Given the description of an element on the screen output the (x, y) to click on. 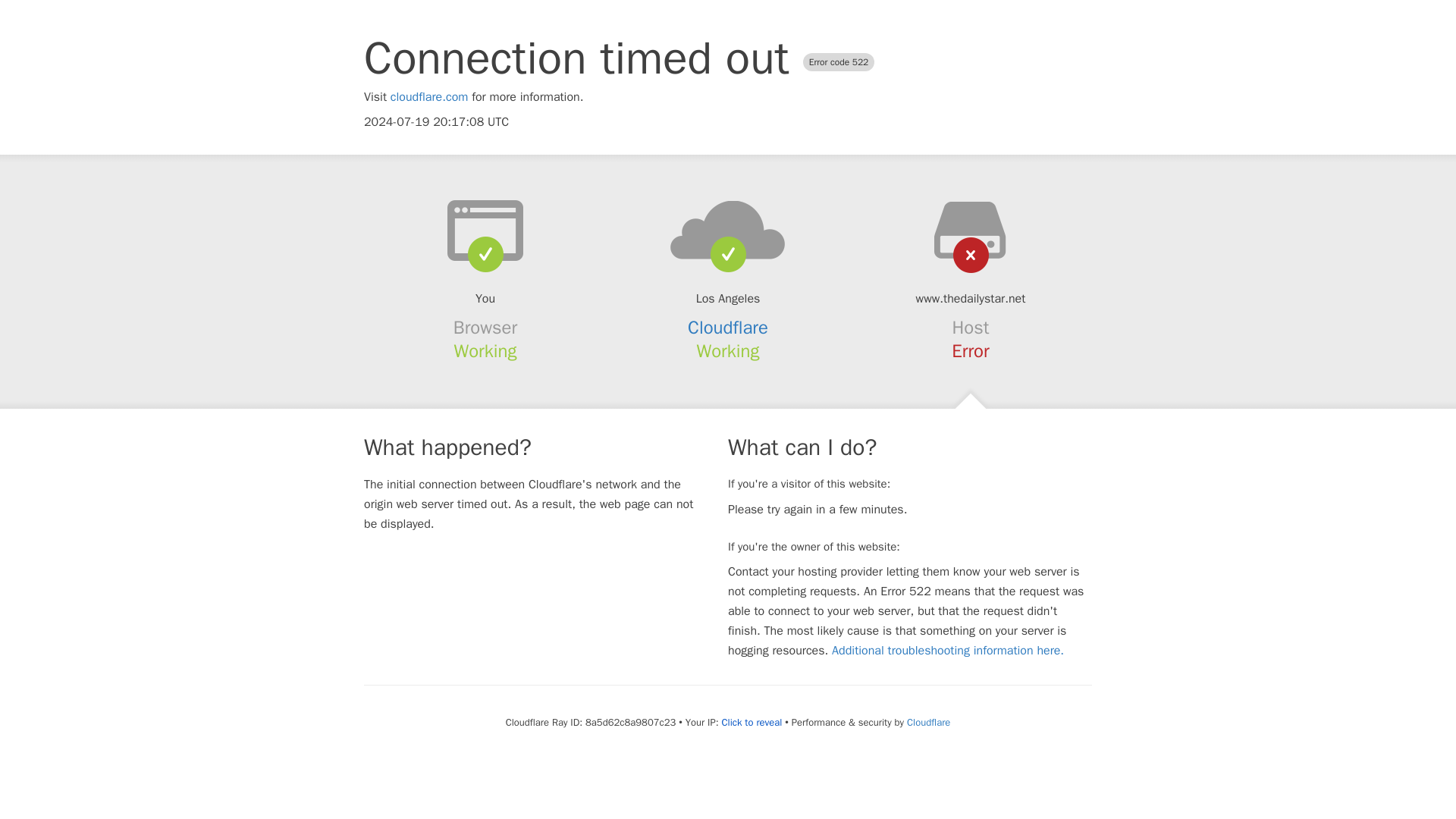
Additional troubleshooting information here. (947, 650)
cloudflare.com (429, 96)
Click to reveal (750, 722)
Cloudflare (727, 327)
Cloudflare (928, 721)
